Given the description of an element on the screen output the (x, y) to click on. 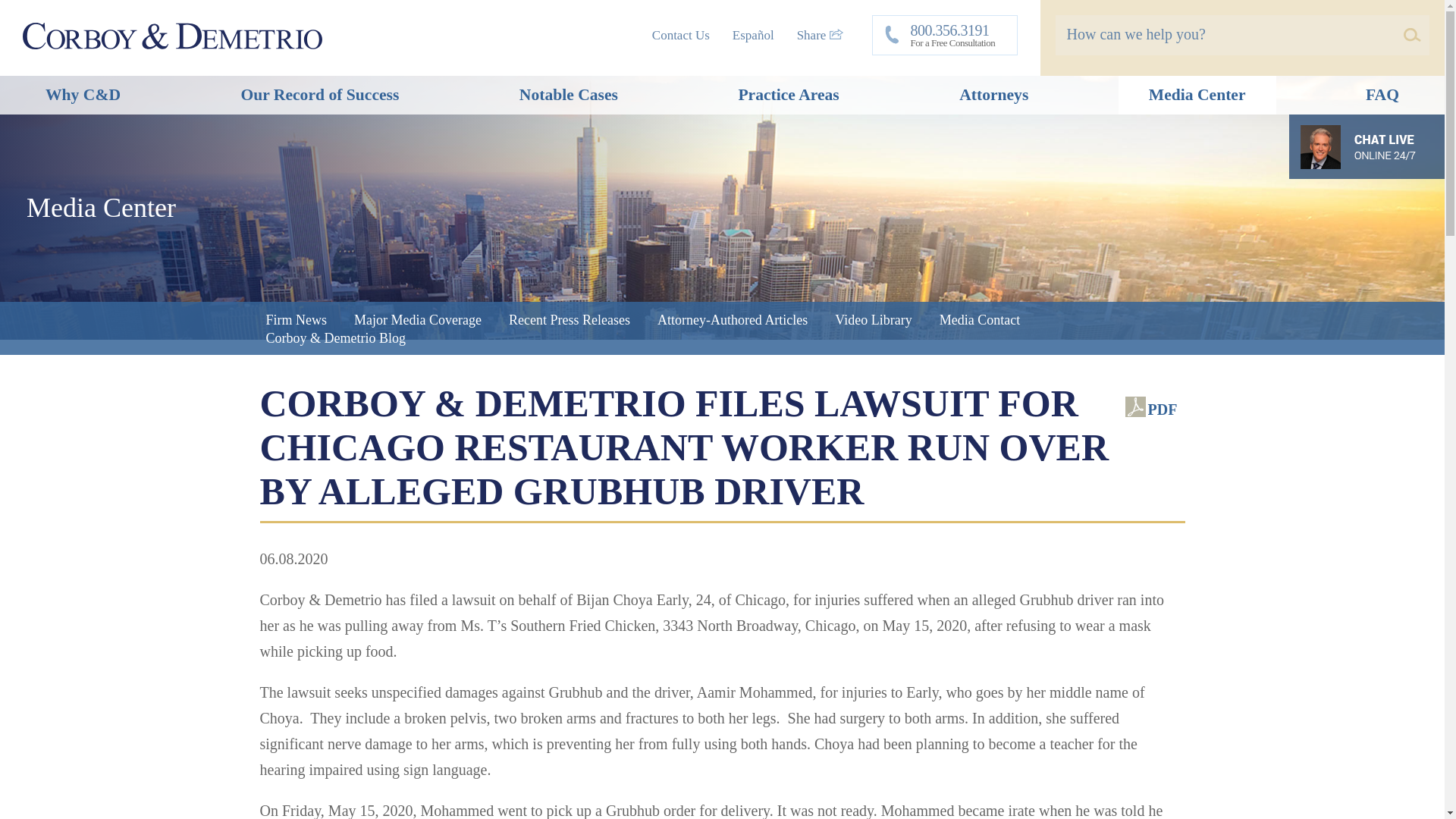
Attorney-Authored Articles (732, 319)
Media Contact (979, 319)
Recent Press Releases (569, 319)
Share (819, 34)
Share (819, 34)
Video Library (872, 319)
PDF (1151, 409)
Contact Us (681, 34)
Firm News (295, 319)
Major Media Coverage (417, 319)
